Given the description of an element on the screen output the (x, y) to click on. 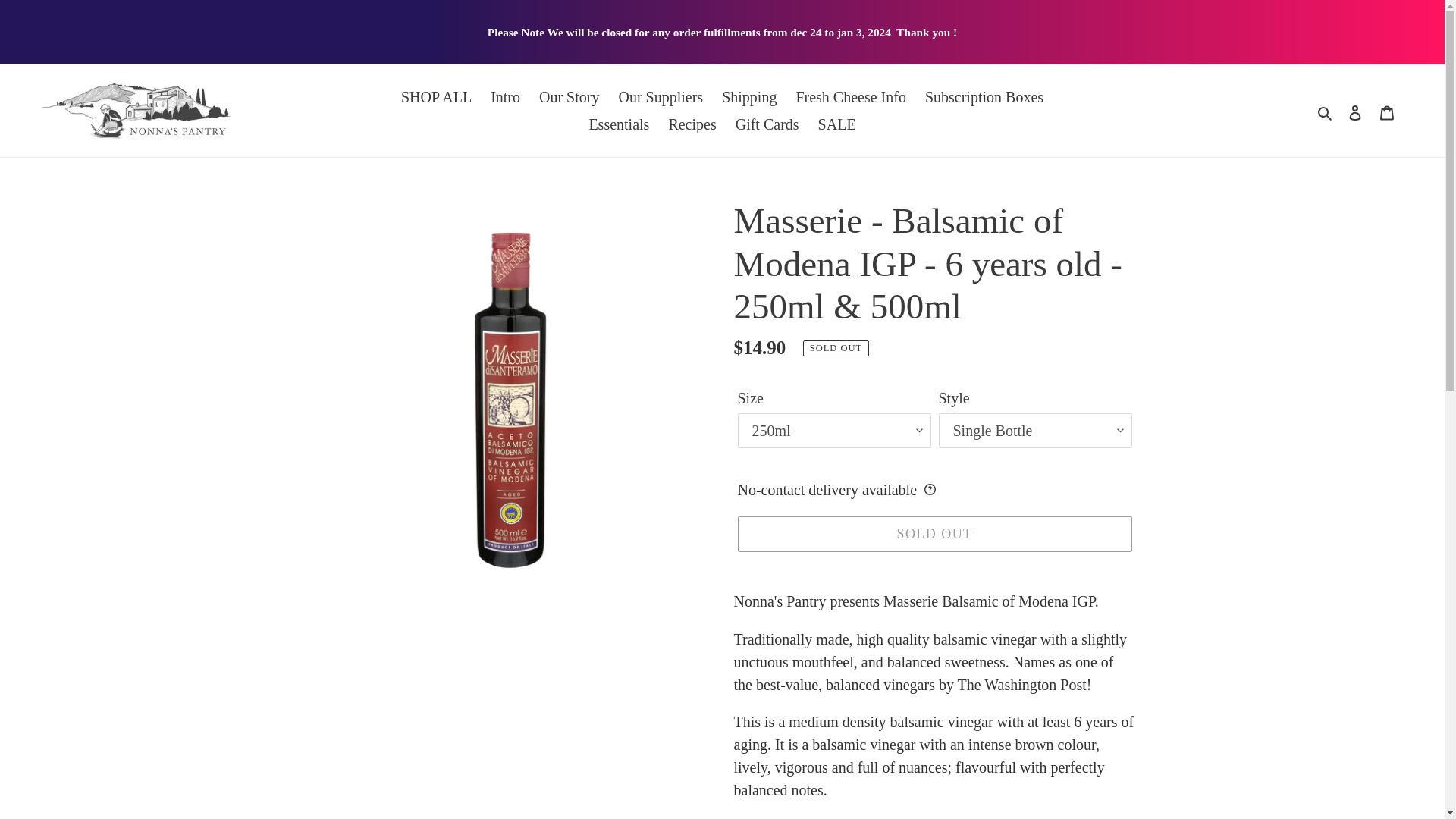
Essentials (618, 124)
Subscription Boxes (984, 96)
Fresh Cheese Info (850, 96)
Shipping (749, 96)
Search (1326, 110)
Intro (505, 96)
Recipes (692, 124)
SOLD OUT (933, 534)
Our Suppliers (660, 96)
SALE (836, 124)
SHOP ALL (436, 96)
Our Story (569, 96)
Gift Cards (767, 124)
